Given the description of an element on the screen output the (x, y) to click on. 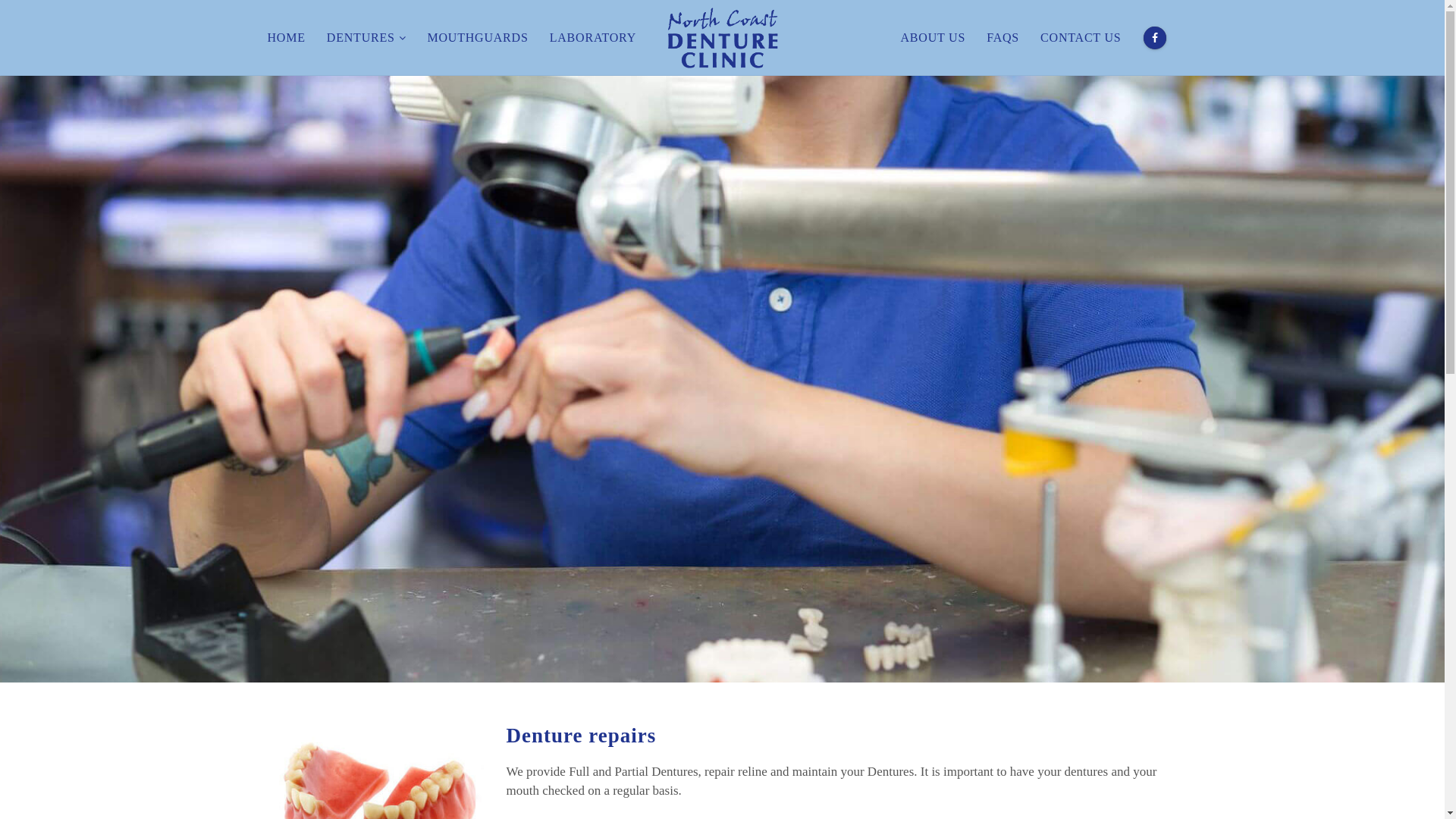
DENTURES Element type: text (366, 37)
FAQS Element type: text (1002, 37)
LABORATORY Element type: text (592, 37)
CONTACT US Element type: text (1080, 37)
ABOUT US Element type: text (932, 37)
MOUTHGUARDS Element type: text (477, 37)
HOME Element type: text (290, 37)
North Coast Denture Clinic -  Element type: hover (721, 37)
